Given the description of an element on the screen output the (x, y) to click on. 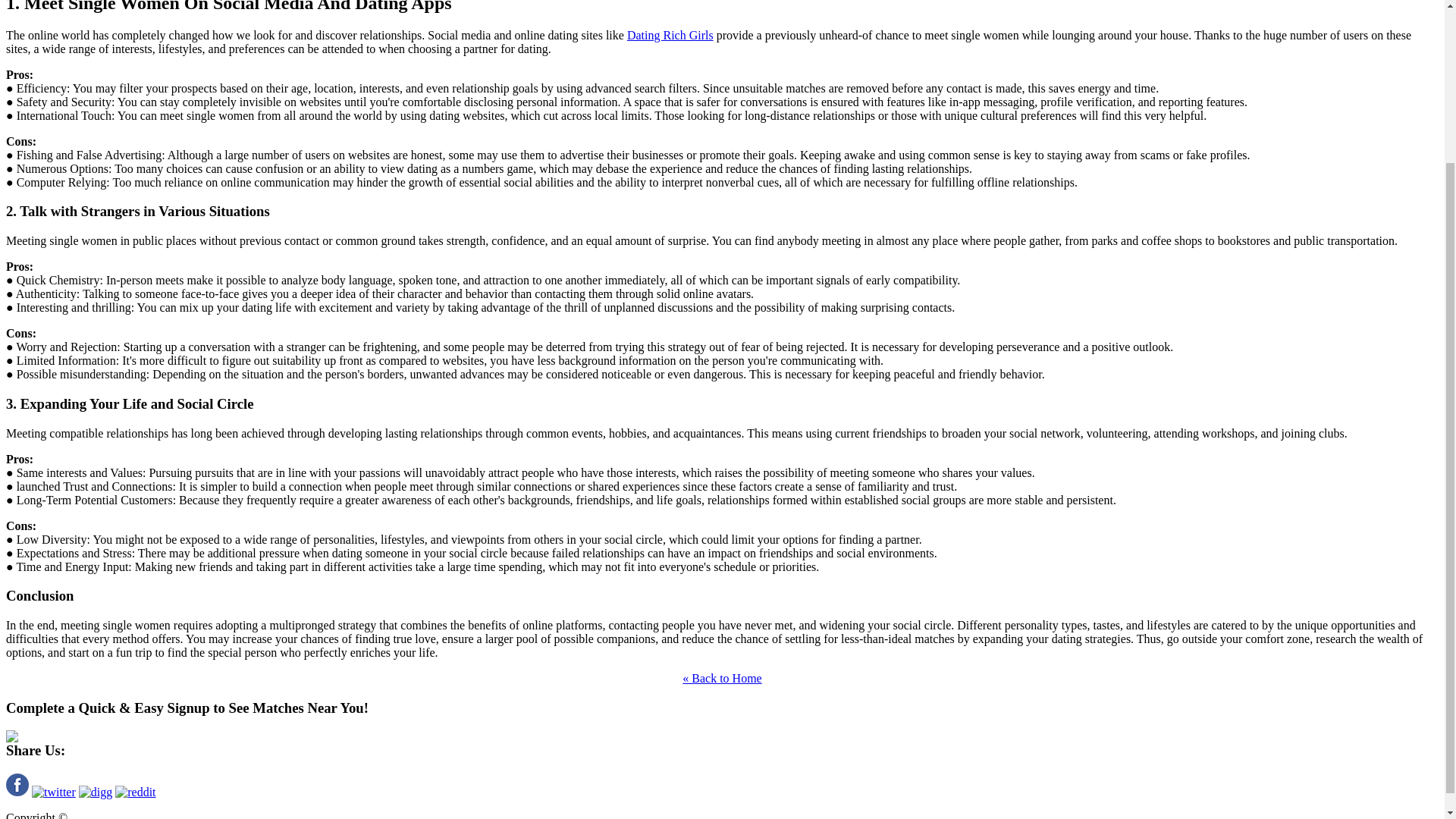
Dating Rich Girls (670, 34)
